Given the description of an element on the screen output the (x, y) to click on. 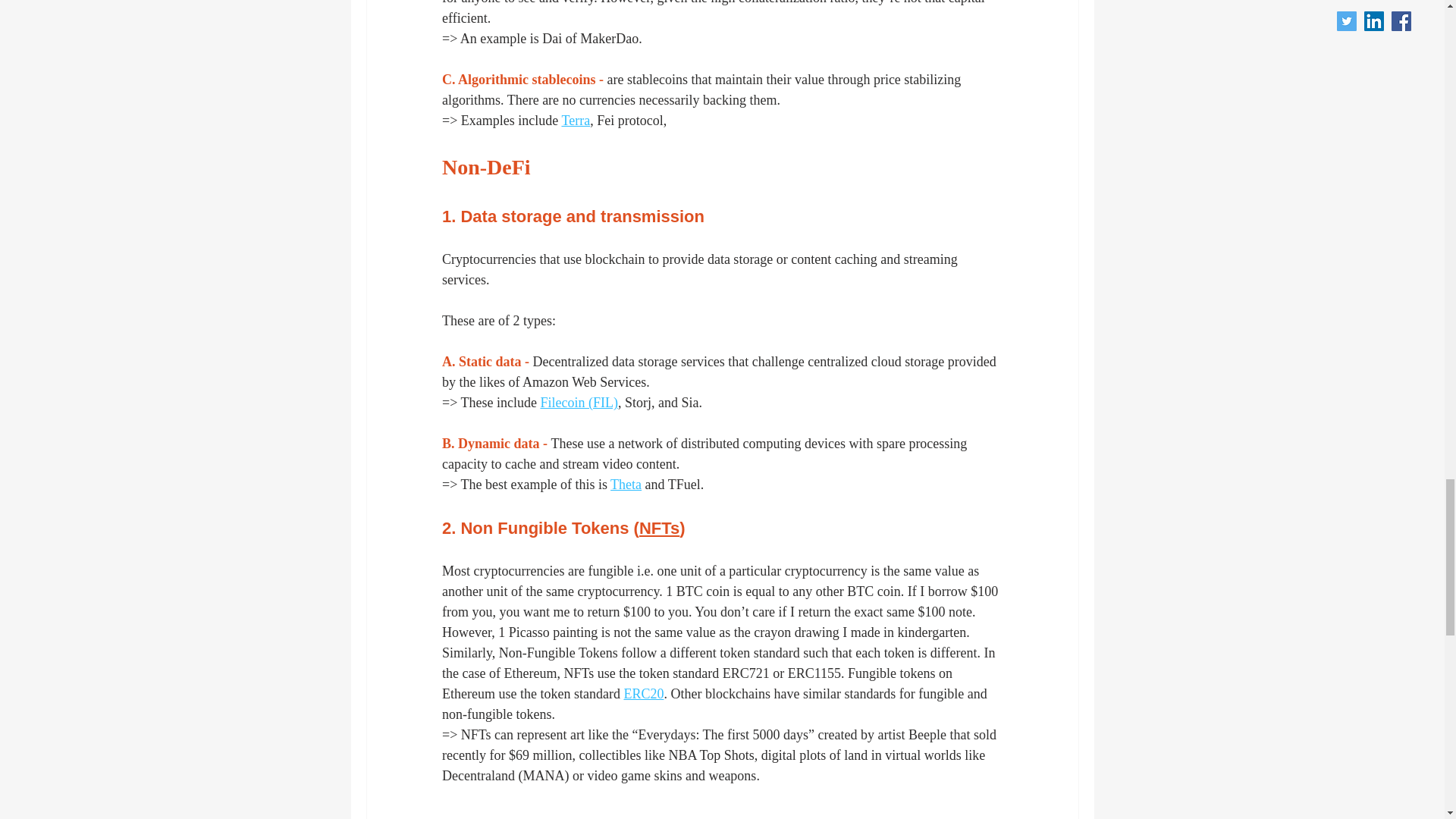
NFTs (658, 527)
ERC20 (643, 693)
Terra (574, 120)
Theta (626, 484)
